Given the description of an element on the screen output the (x, y) to click on. 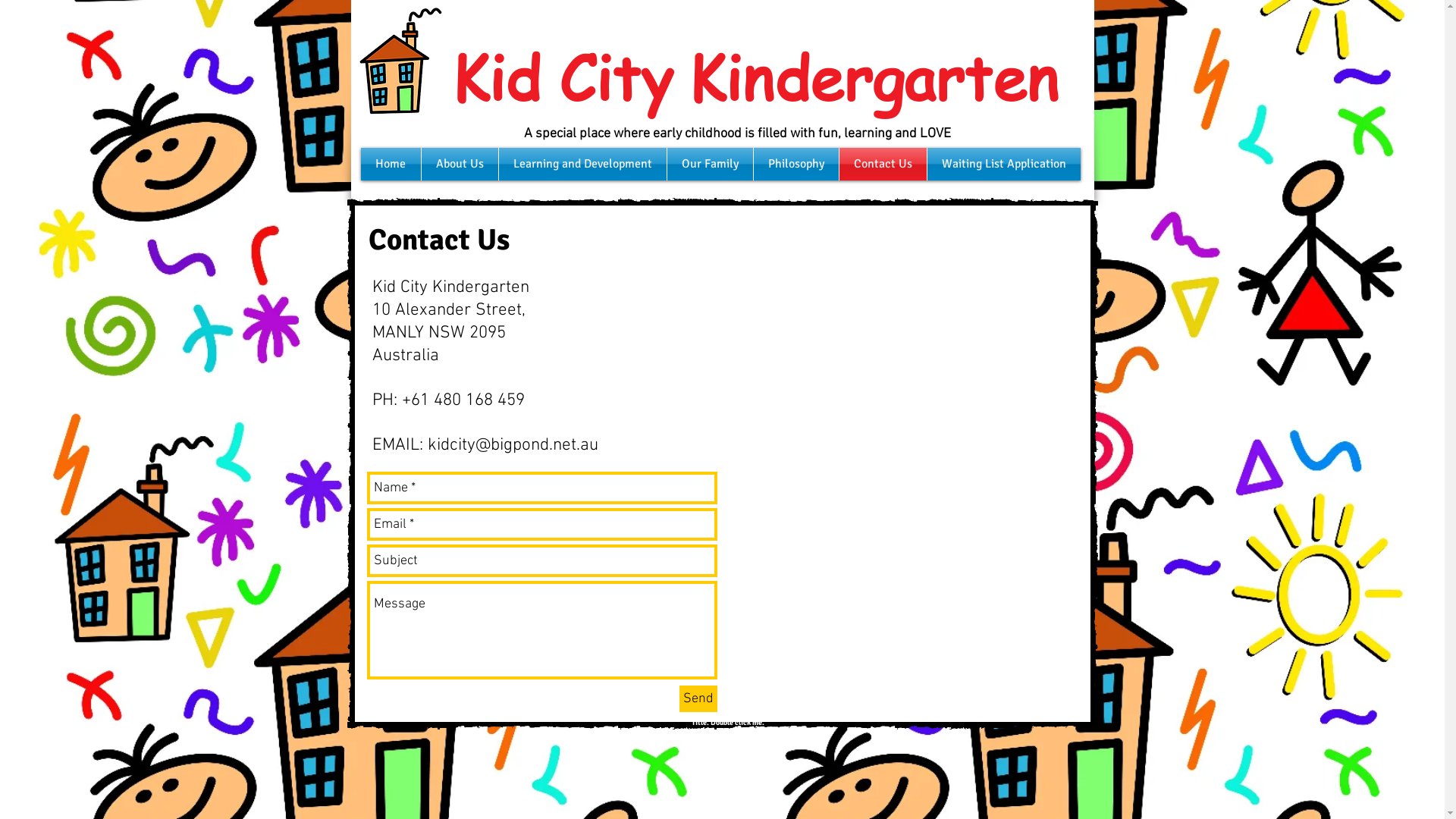
House-2.png Element type: hover (397, 60)
Philosophy Element type: text (795, 163)
kidcity@bigpond.net.au Element type: text (512, 444)
About Us Element type: text (459, 163)
Waiting List Application Element type: text (1002, 163)
Contact Us Element type: text (881, 163)
Send Element type: text (698, 698)
Learning and Development Element type: text (582, 163)
Our Family Element type: text (710, 163)
Home Element type: text (390, 163)
